Given the description of an element on the screen output the (x, y) to click on. 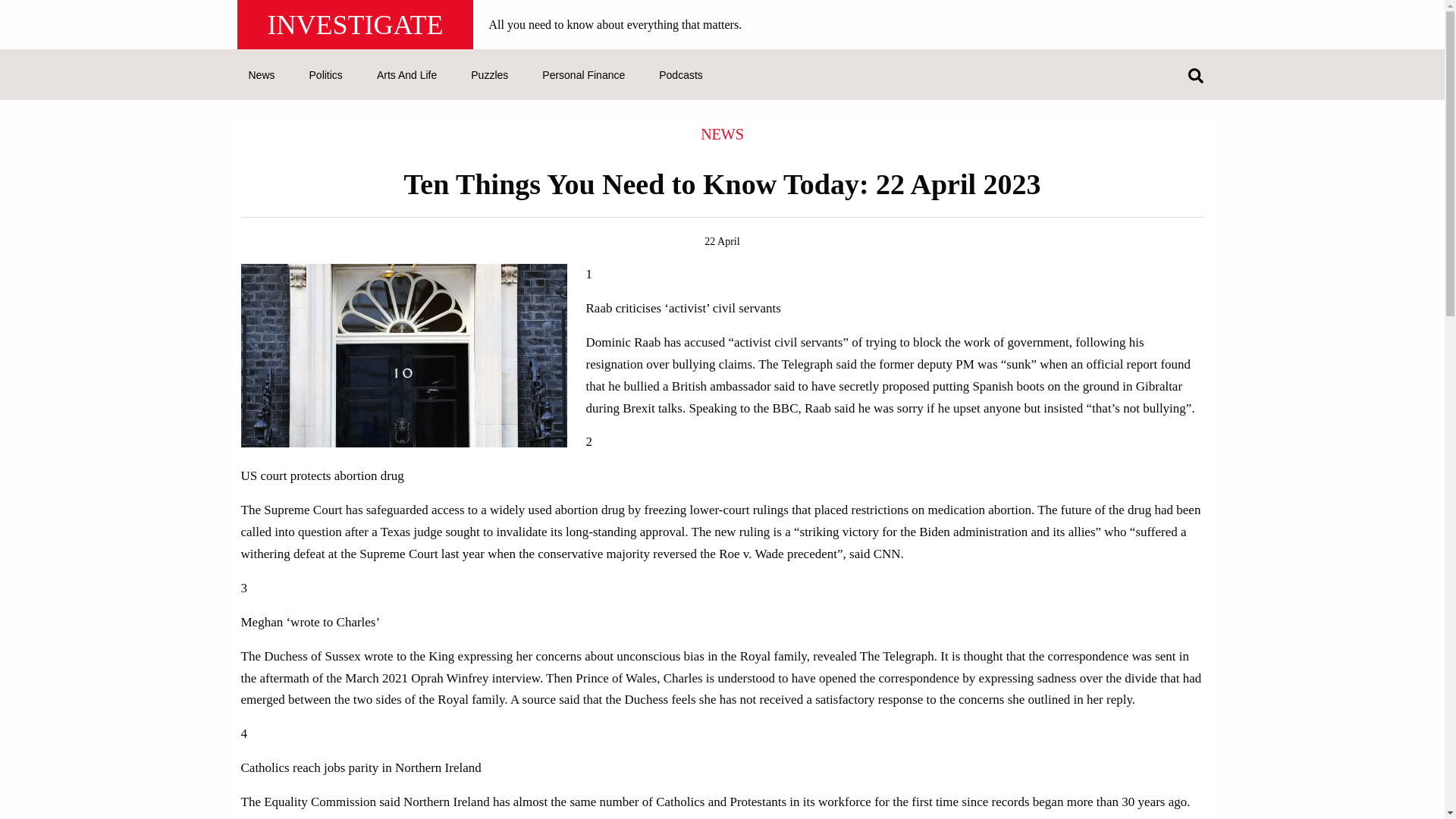
Podcasts (680, 75)
Puzzles (489, 75)
Arts And Life (406, 75)
NEWS (722, 134)
Politics (325, 75)
Personal Finance (582, 75)
INVESTIGATE (354, 24)
News (261, 75)
